Given the description of an element on the screen output the (x, y) to click on. 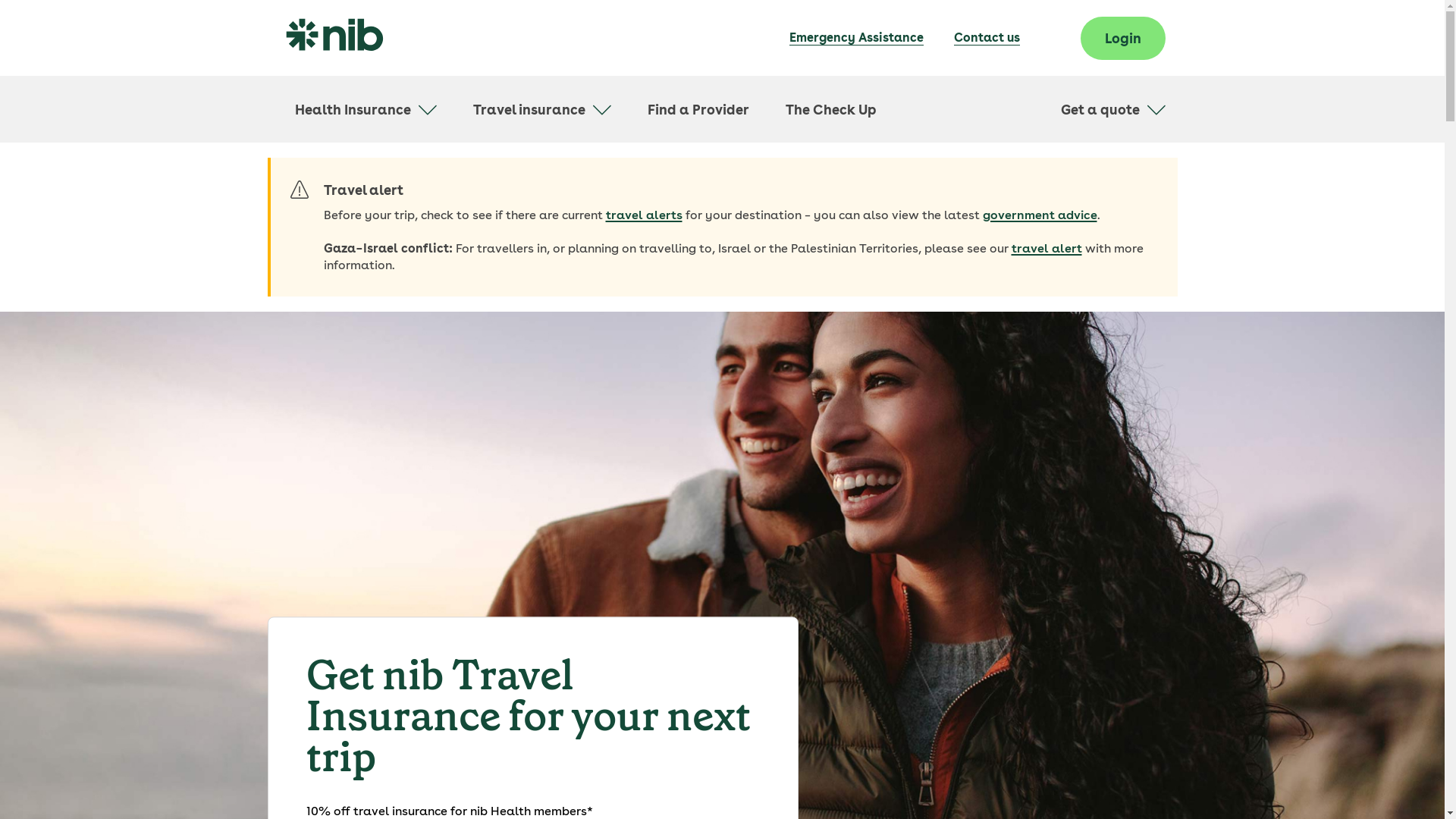
travel alerts Element type: text (643, 214)
government advice Element type: text (1039, 214)
Emergency Assistance Element type: text (855, 37)
Travel insurance Element type: text (542, 109)
Get a quote Element type: text (1112, 109)
travel alert Element type: text (1046, 248)
Health Insurance Element type: text (365, 109)
The Check Up Element type: text (830, 109)
Contact us Element type: text (986, 37)
Find a Provider Element type: text (698, 109)
Login Element type: text (1121, 37)
